Given the description of an element on the screen output the (x, y) to click on. 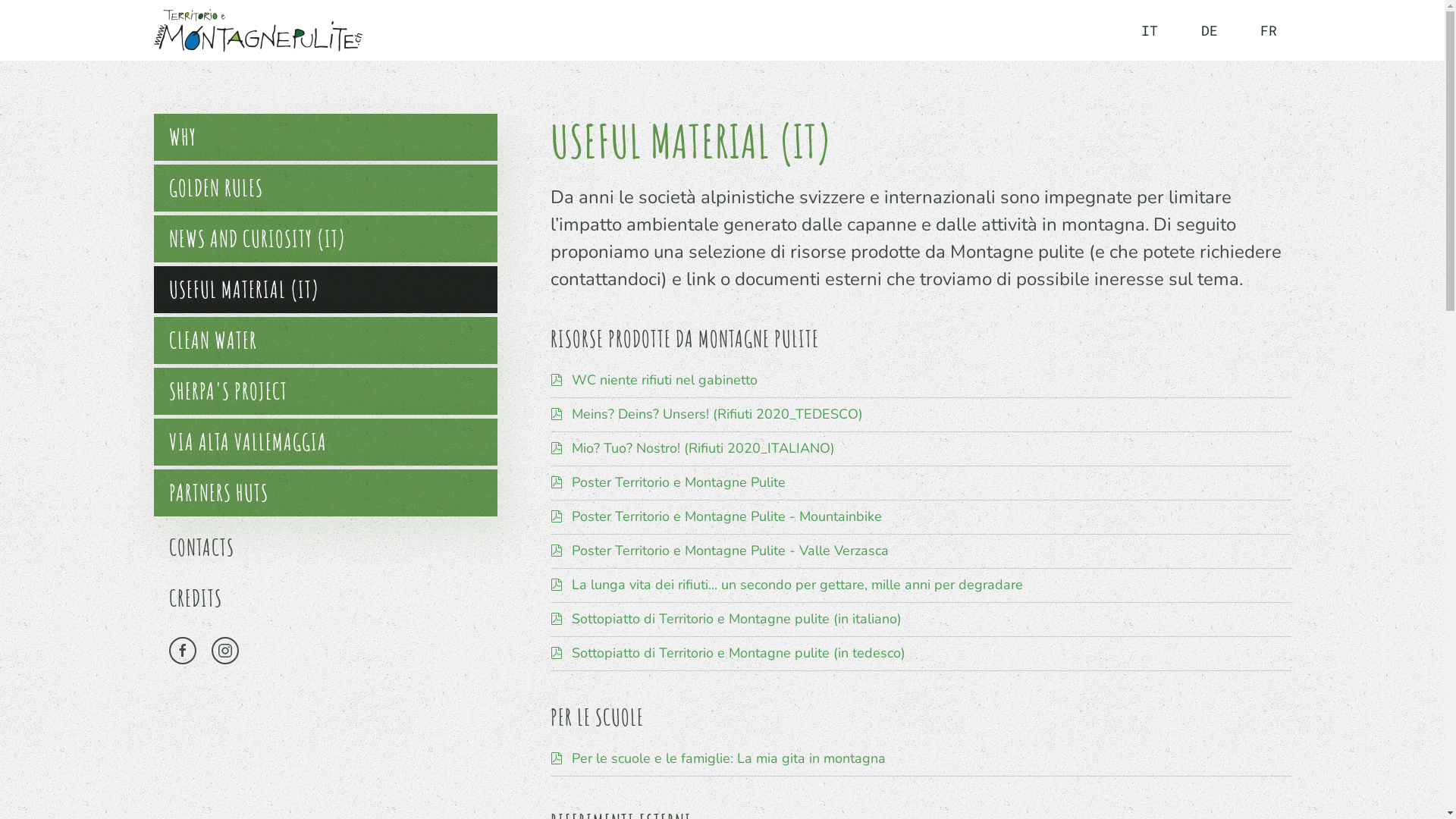
GOLDEN RULES Element type: text (324, 187)
NEWS AND CURIOSITY (IT) Element type: text (324, 238)
Poster Territorio e Montagne Pulite - Valle Verzasca Element type: text (729, 550)
SHERPA'S PROJECT Element type: text (324, 390)
WC niente rifiuti nel gabinetto Element type: text (664, 379)
pdf Element type: text (556, 516)
pdf Element type: text (556, 584)
pdf Element type: text (556, 758)
pdf Element type: text (556, 618)
CONTACTS Element type: text (324, 547)
USEFUL MATERIAL (IT) Element type: text (324, 289)
pdf Element type: text (556, 379)
Poster Territorio e Montagne Pulite - Mountainbike Element type: text (726, 516)
Sottopiatto di Territorio e Montagne pulite (in tedesco) Element type: text (738, 652)
Sottopiatto di Territorio e Montagne pulite (in italiano) Element type: text (736, 618)
pdf Element type: text (556, 652)
pdf Element type: text (556, 482)
DE Element type: text (1209, 30)
FR Element type: text (1268, 30)
pdf Element type: text (556, 448)
CREDITS Element type: text (324, 597)
pdf Element type: text (556, 413)
Mio? Tuo? Nostro! (Rifiuti 2020_ITALIANO) Element type: text (702, 448)
Poster Territorio e Montagne Pulite Element type: text (678, 482)
Meins? Deins? Unsers! (Rifiuti 2020_TEDESCO) Element type: text (716, 413)
IT Element type: text (1149, 30)
pdf Element type: text (556, 550)
Per le scuole e le famiglie: La mia gita in montagna Element type: text (728, 758)
PARTNERS HUTS Element type: text (324, 492)
WHY Element type: text (324, 136)
CLEAN WATER Element type: text (324, 340)
VIA ALTA VALLEMAGGIA Element type: text (324, 441)
